Given the description of an element on the screen output the (x, y) to click on. 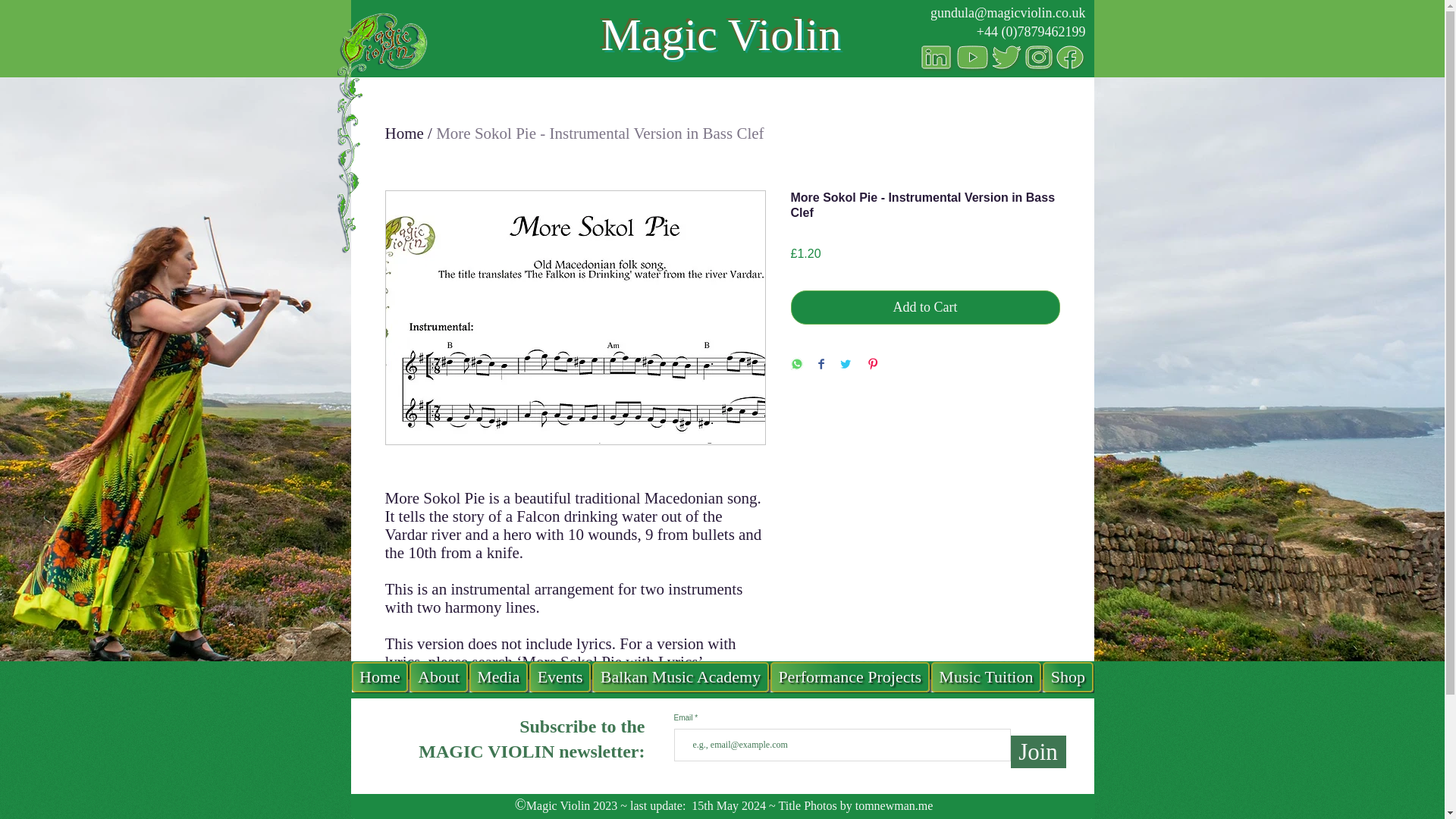
Home (380, 676)
About (438, 676)
Music Tuition (986, 676)
Add to Cart (924, 307)
More Sokol Pie - Instrumental Version in Bass Clef (598, 133)
Events (560, 676)
Home (404, 133)
here (709, 752)
Join (1037, 751)
Shop (1067, 676)
